Given the description of an element on the screen output the (x, y) to click on. 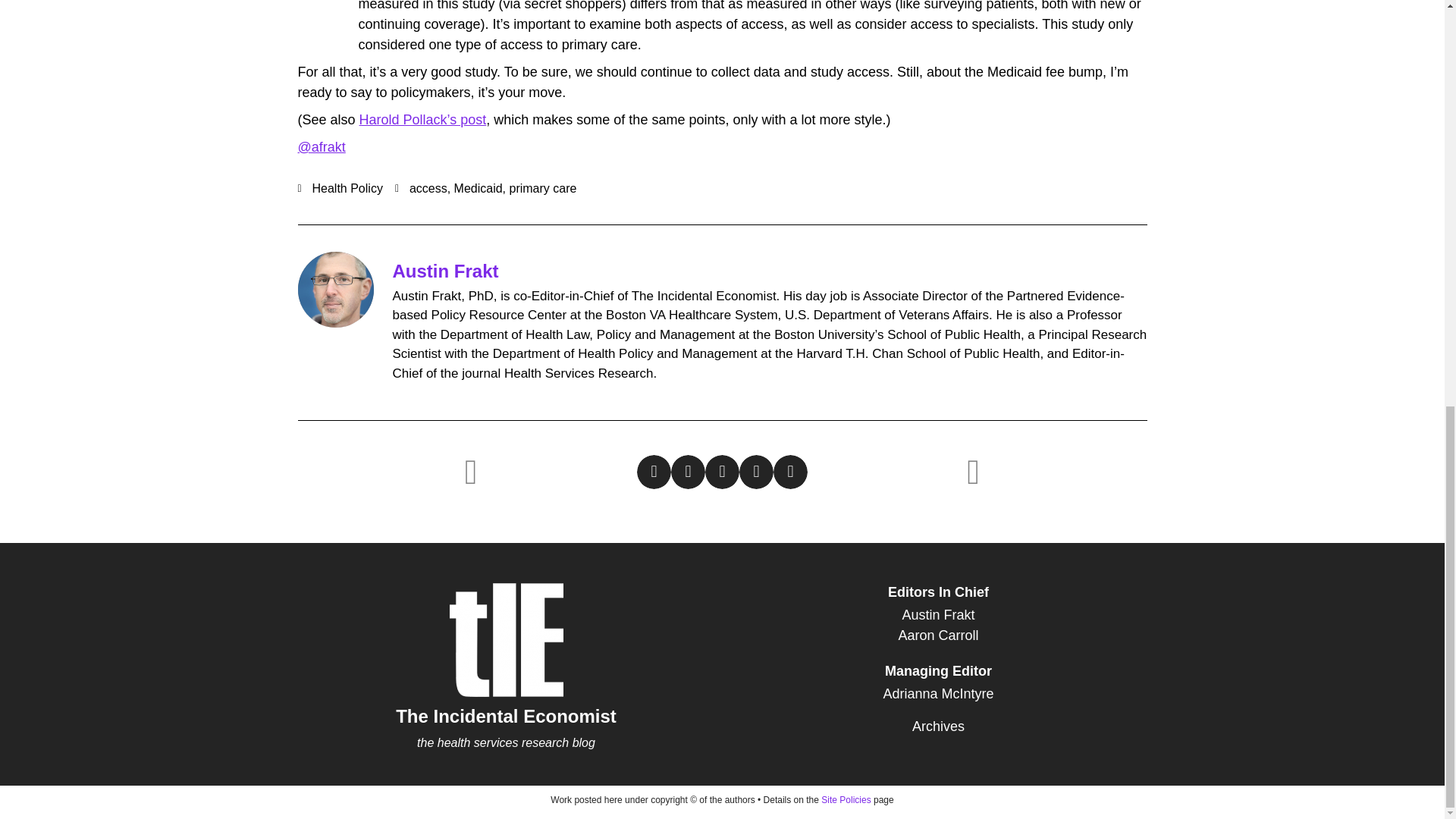
Austin Frakt (938, 615)
Health Policy (347, 187)
Archives (938, 726)
Aaron Carroll (938, 635)
Adrianna McIntyre (938, 693)
Austin Frakt (446, 271)
Medicaid (478, 187)
primary care (542, 187)
access (427, 187)
Site Policies (845, 799)
